Given the description of an element on the screen output the (x, y) to click on. 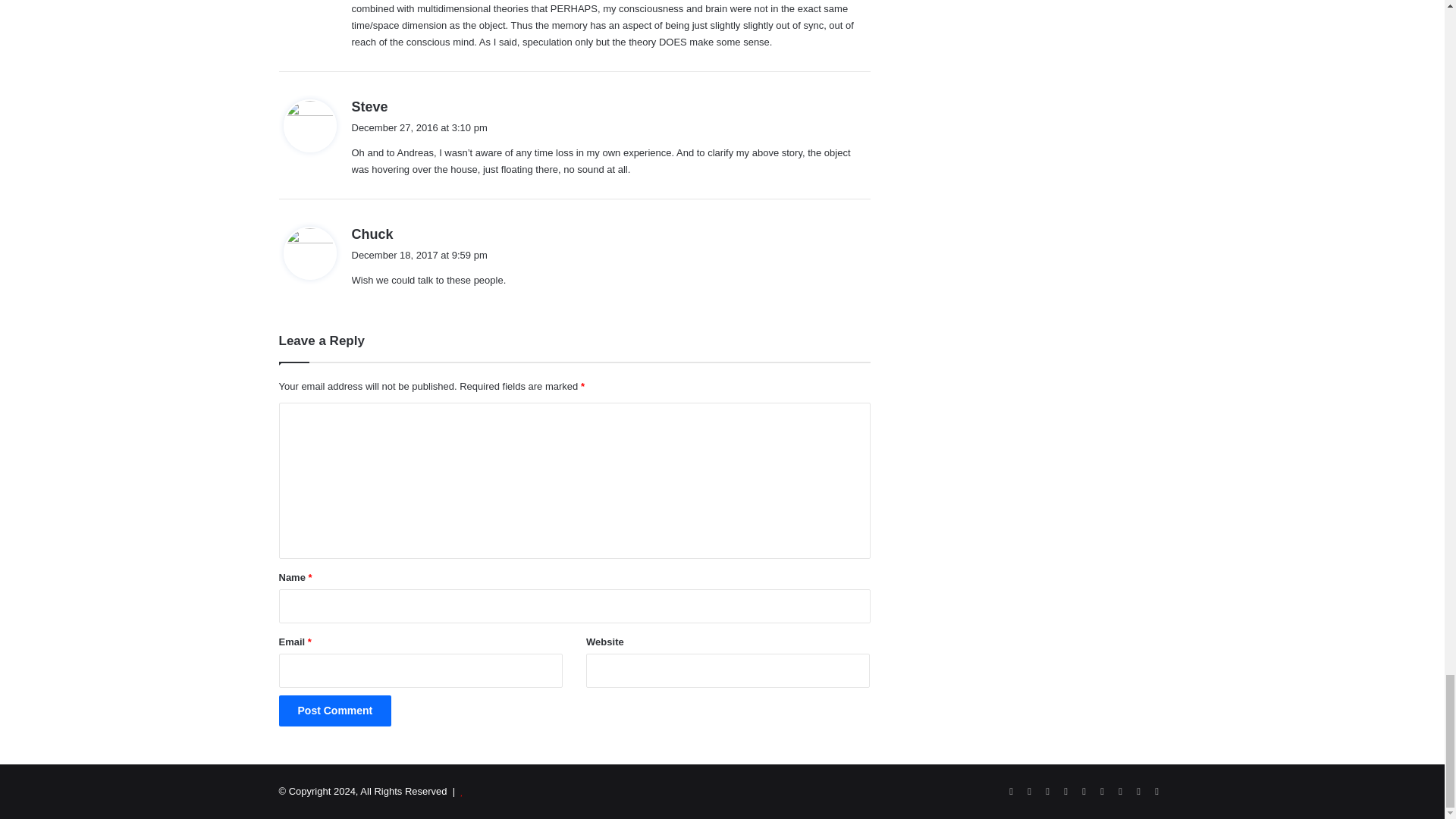
Post Comment (335, 710)
